Given the description of an element on the screen output the (x, y) to click on. 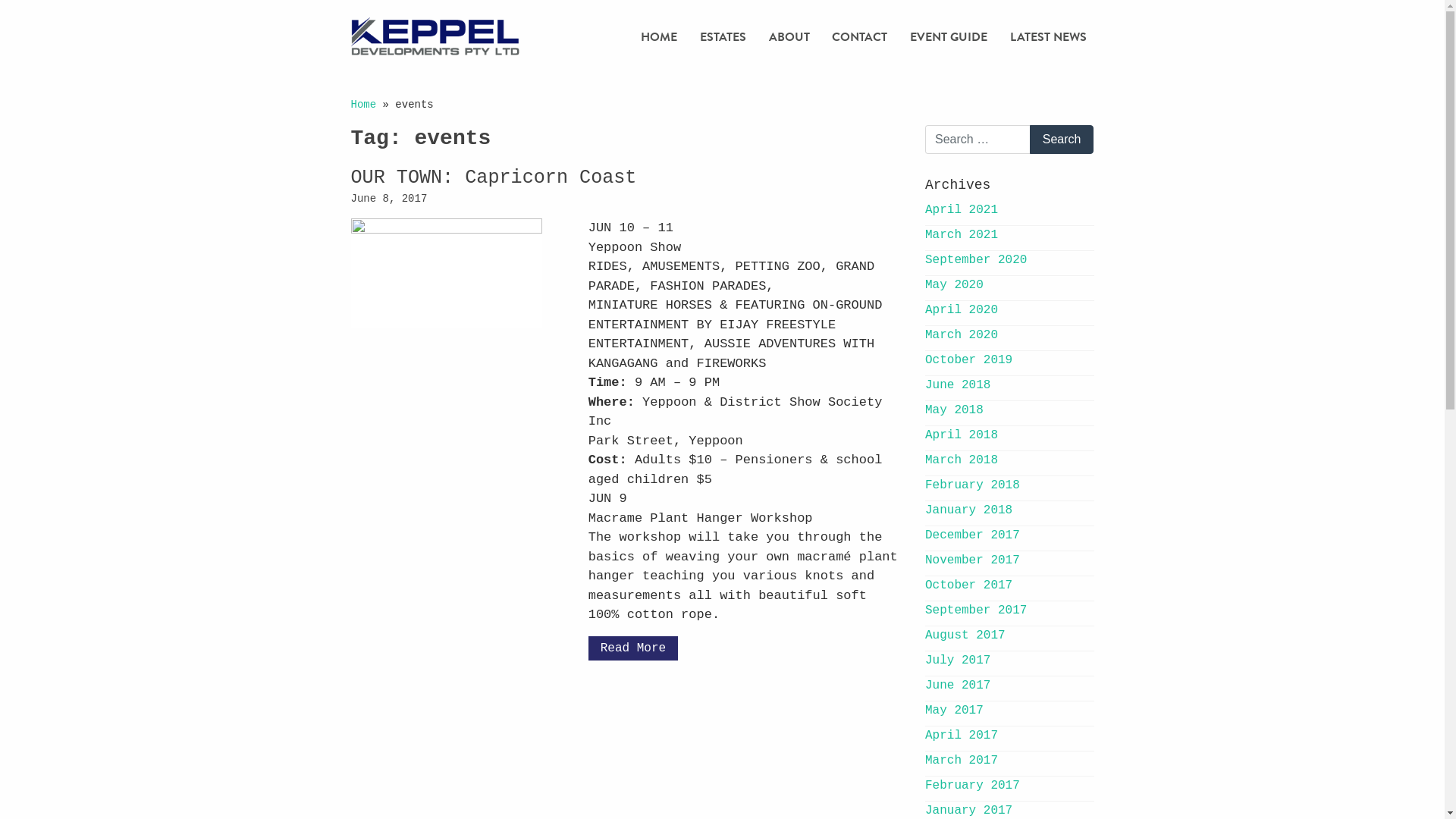
June 2018 Element type: text (957, 385)
May 2020 Element type: text (954, 284)
OUR TOWN: Capricorn Coast Element type: text (493, 177)
April 2021 Element type: text (961, 209)
September 2017 Element type: text (975, 610)
April 2018 Element type: text (961, 435)
Read More Element type: text (632, 648)
September 2020 Element type: text (975, 259)
April 2020 Element type: text (961, 309)
Home Element type: text (363, 104)
May 2018 Element type: text (954, 410)
July 2017 Element type: text (957, 660)
May 2017 Element type: text (954, 710)
HOME Element type: text (658, 36)
August 2017 Element type: text (965, 635)
June 2017 Element type: text (957, 685)
February 2017 Element type: text (972, 785)
October 2019 Element type: text (968, 360)
January 2017 Element type: text (968, 810)
Search Element type: text (1061, 139)
March 2018 Element type: text (961, 460)
January 2018 Element type: text (968, 510)
February 2018 Element type: text (972, 485)
June 8, 2017 Element type: text (388, 198)
November 2017 Element type: text (972, 560)
LATEST NEWS Element type: text (1048, 36)
December 2017 Element type: text (972, 535)
March 2020 Element type: text (961, 335)
April 2017 Element type: text (961, 735)
CONTACT Element type: text (859, 36)
EVENT GUIDE Element type: text (948, 36)
March 2017 Element type: text (961, 760)
October 2017 Element type: text (968, 585)
March 2021 Element type: text (961, 234)
ABOUT Element type: text (789, 36)
ESTATES Element type: text (722, 36)
